Given the description of an element on the screen output the (x, y) to click on. 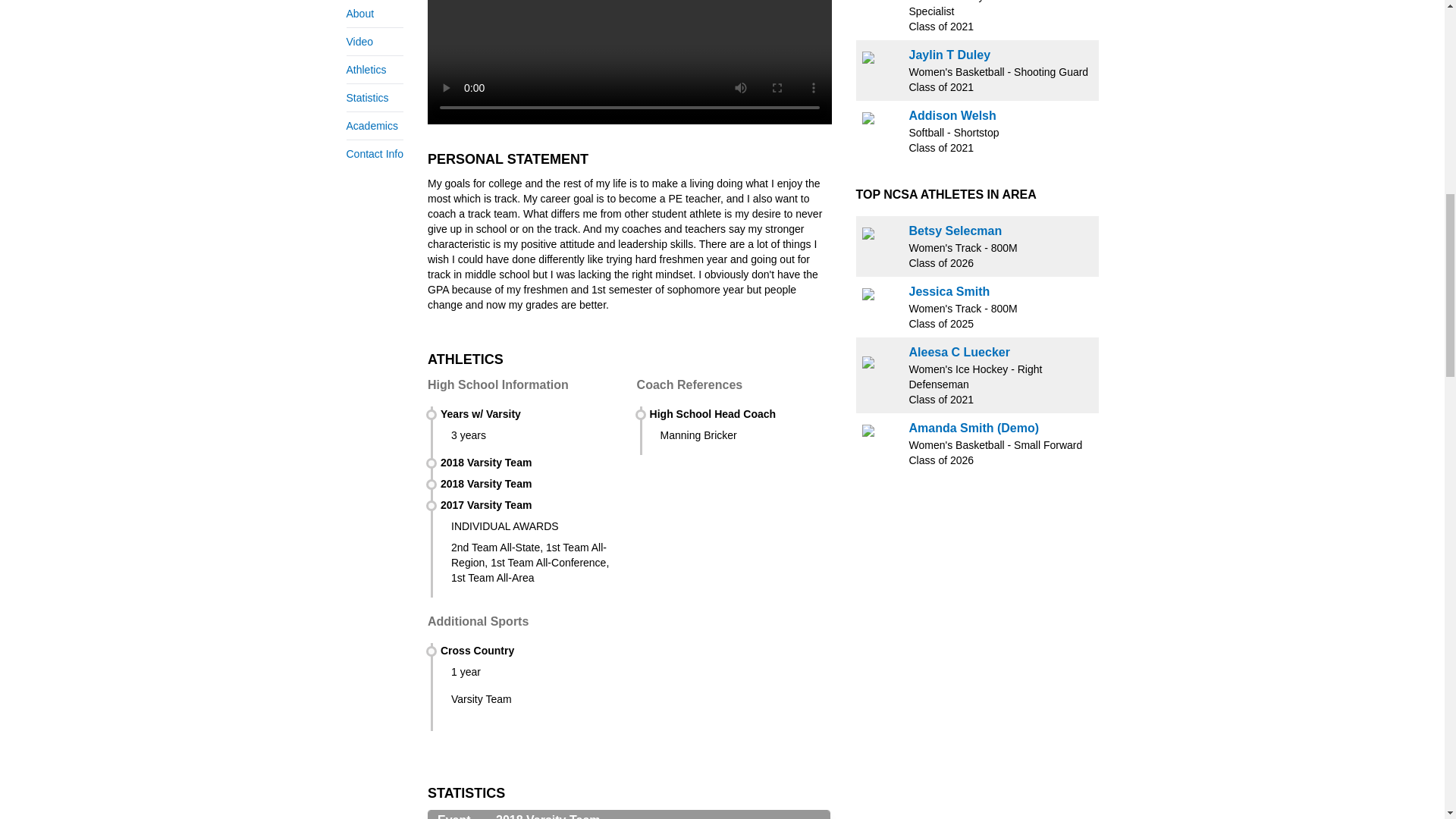
Betsy Selecman (954, 230)
Addison Welsh (951, 115)
Aleesa C Luecker (958, 351)
Jaylin T Duley (949, 54)
Jessica Smith (949, 291)
